Given the description of an element on the screen output the (x, y) to click on. 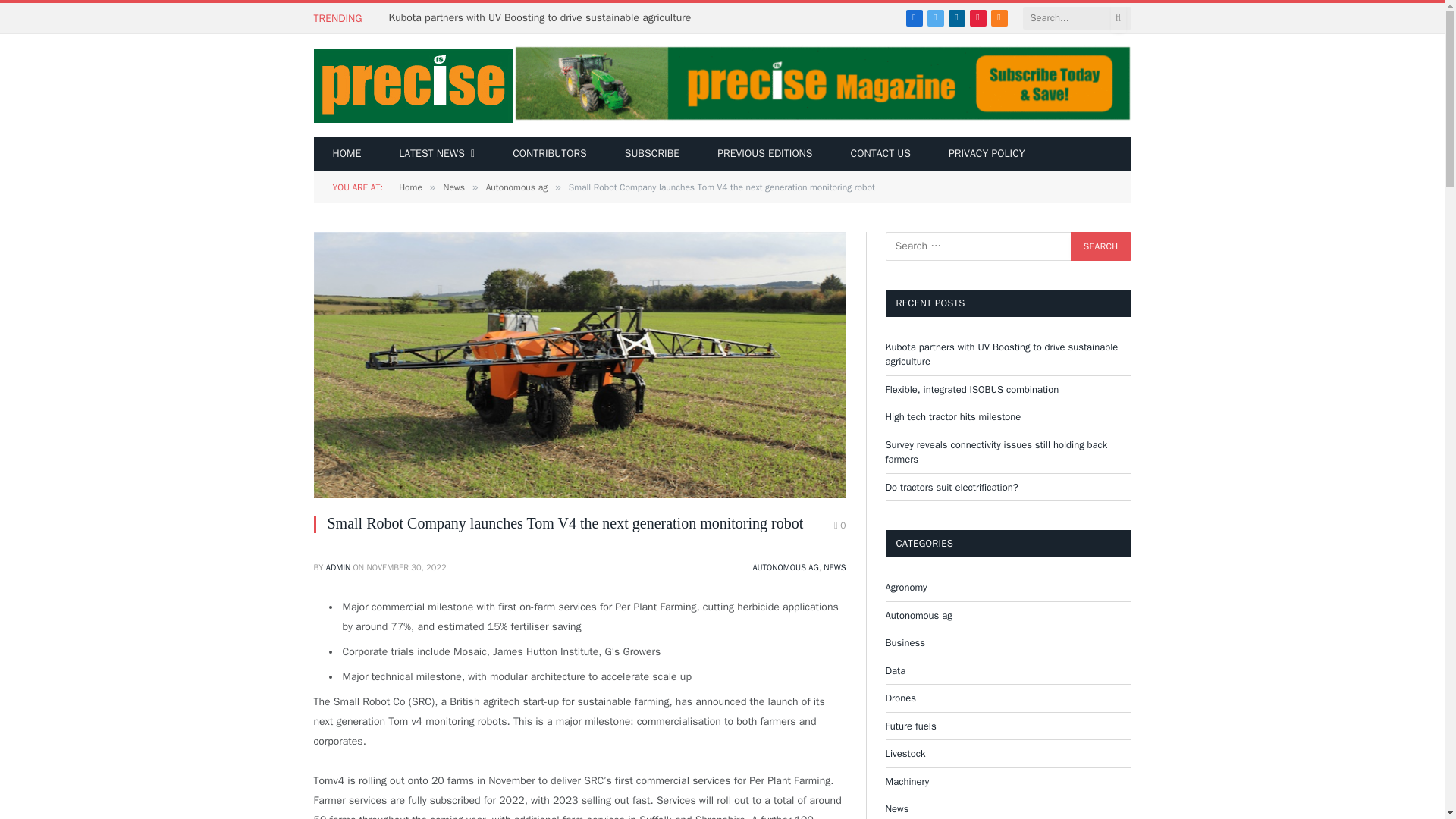
Home (347, 153)
2022-11-30 (405, 566)
Precise (413, 85)
Facebook (914, 17)
Pinterest (978, 17)
Posts by admin (338, 566)
Twitter (935, 17)
Search (1100, 246)
LATEST NEWS (436, 153)
LinkedIn (957, 17)
Search (1100, 246)
RSS (999, 17)
HOME (347, 153)
